Given the description of an element on the screen output the (x, y) to click on. 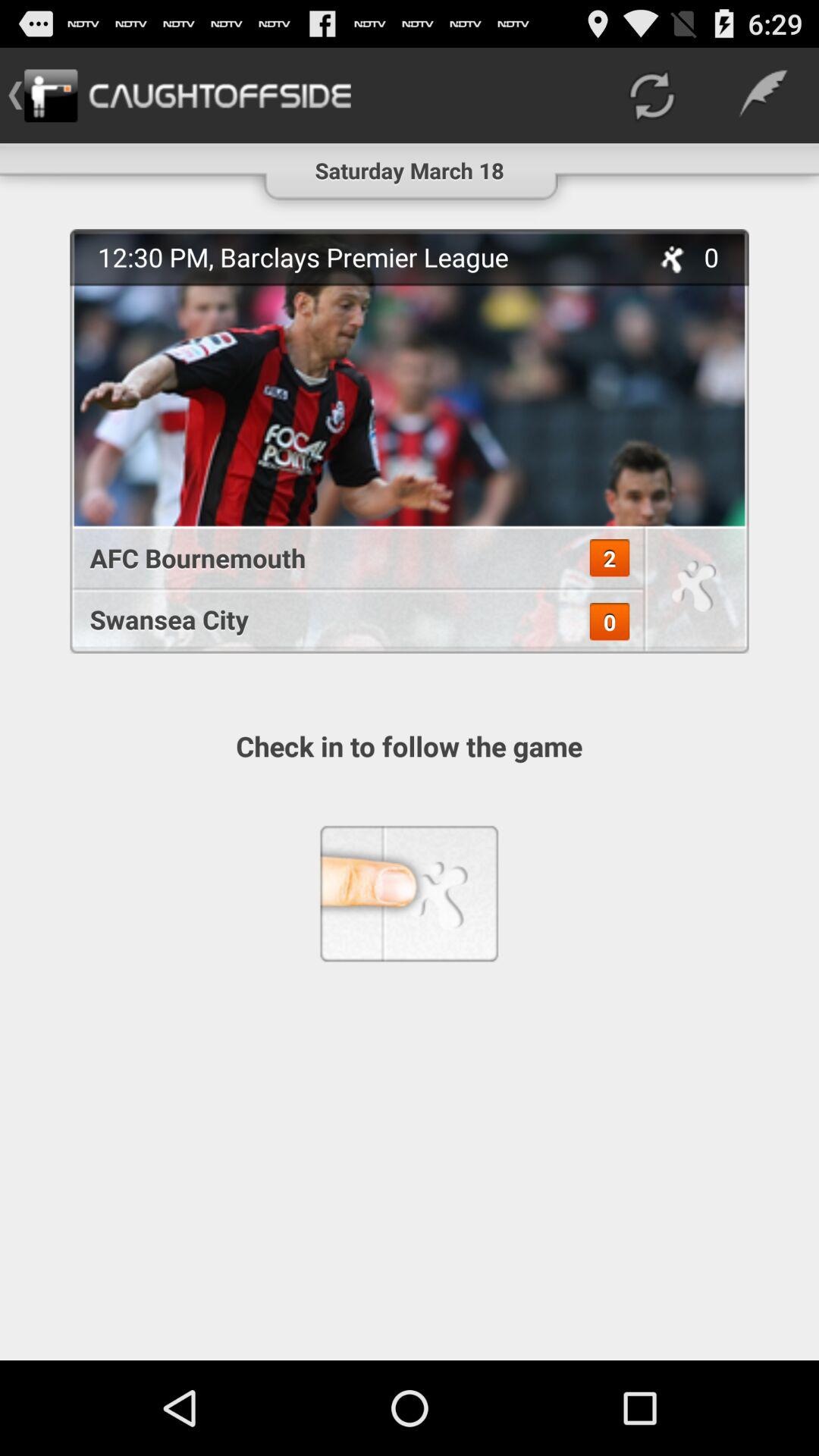
open the item above check in to (409, 441)
